Given the description of an element on the screen output the (x, y) to click on. 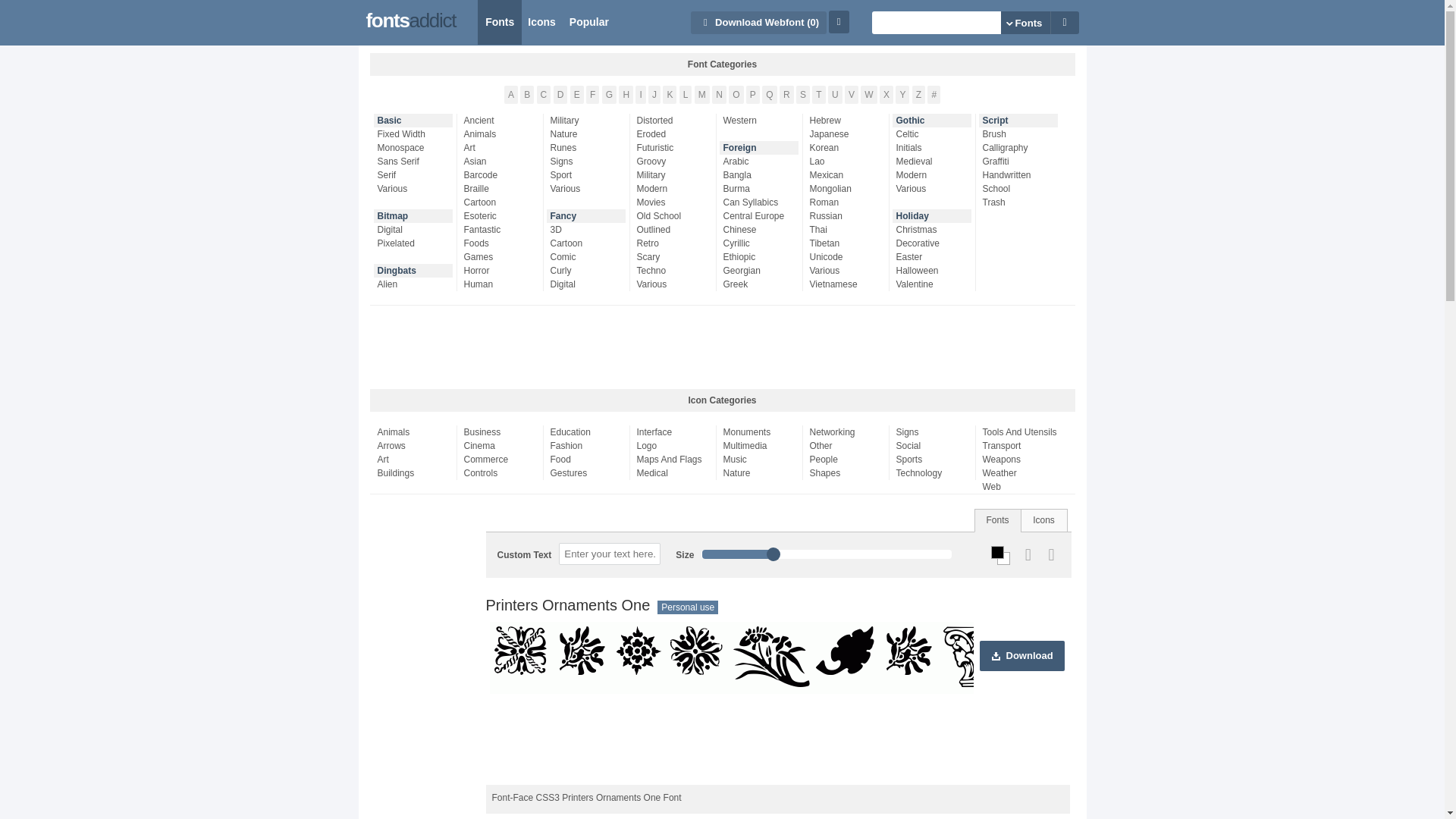
Sans Serif (417, 161)
Icons (541, 22)
Popular (588, 22)
Change background color (1003, 558)
Various (417, 188)
Basic (414, 120)
Change foreground color (997, 552)
Serif (417, 174)
Fixed Width (417, 133)
Monospace (417, 147)
